Given the description of an element on the screen output the (x, y) to click on. 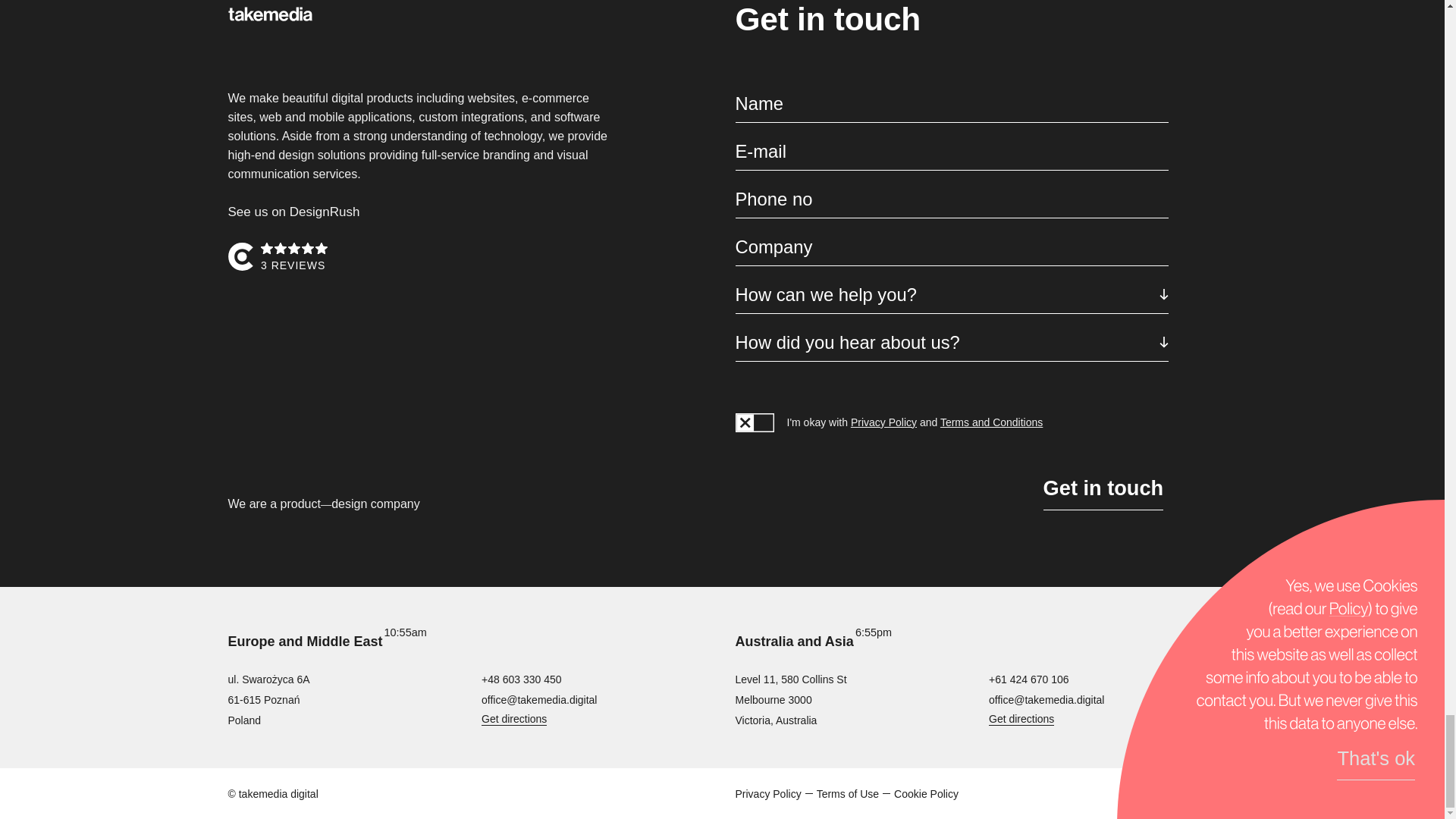
Get directions (514, 718)
Get in touch (1103, 487)
Cookie Policy (925, 793)
See us on DesignRush (293, 211)
Terms of Use (847, 793)
Get directions (1021, 718)
Privacy Policy (768, 793)
takemedia digital Clutch Review Widget 1 (419, 257)
